Given the description of an element on the screen output the (x, y) to click on. 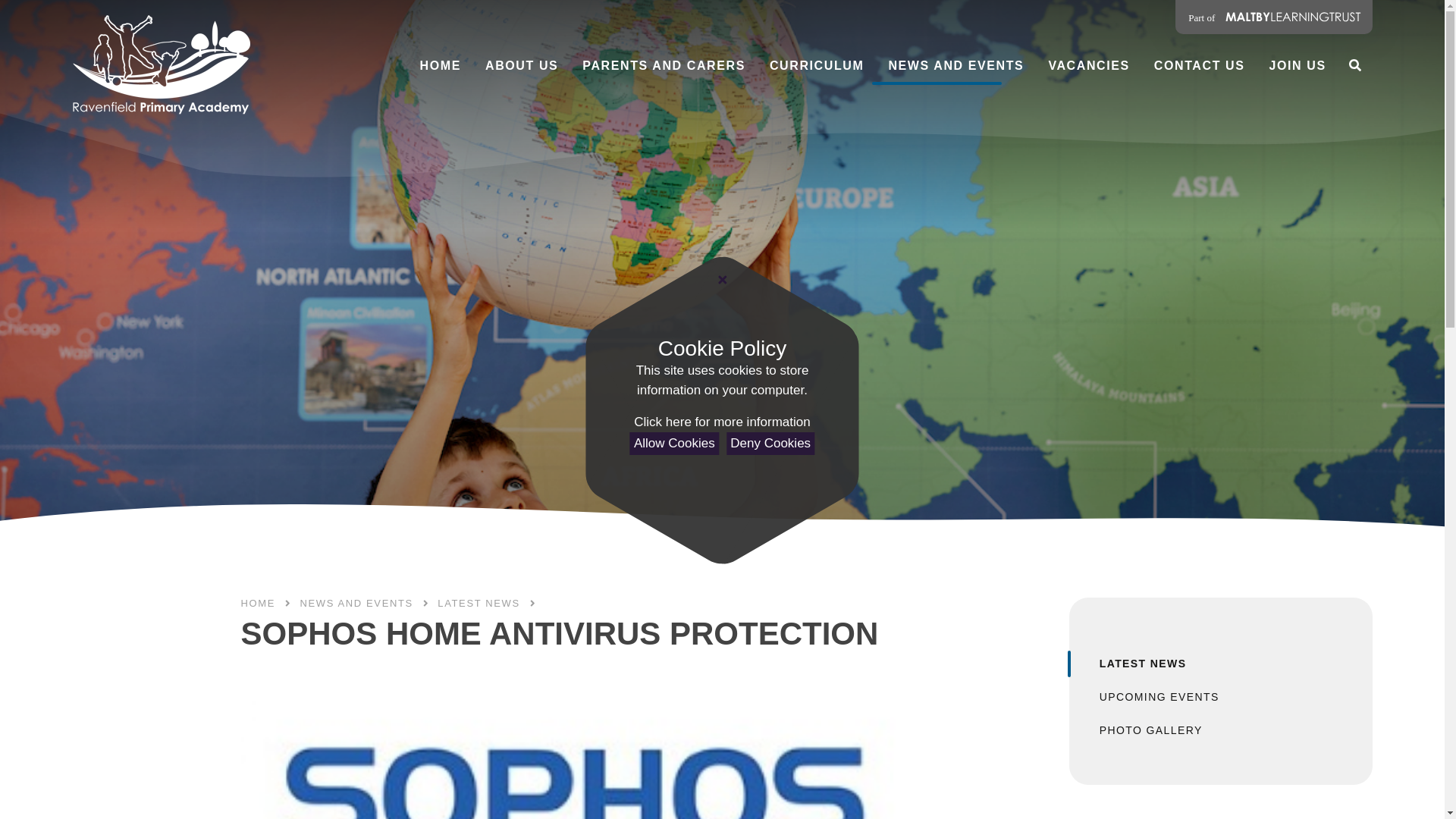
HOME (440, 65)
PARENTS AND CARERS (663, 65)
See cookie policy (721, 422)
Deny Cookies (769, 443)
ABOUT US (521, 65)
Allow Cookies (674, 443)
